Given the description of an element on the screen output the (x, y) to click on. 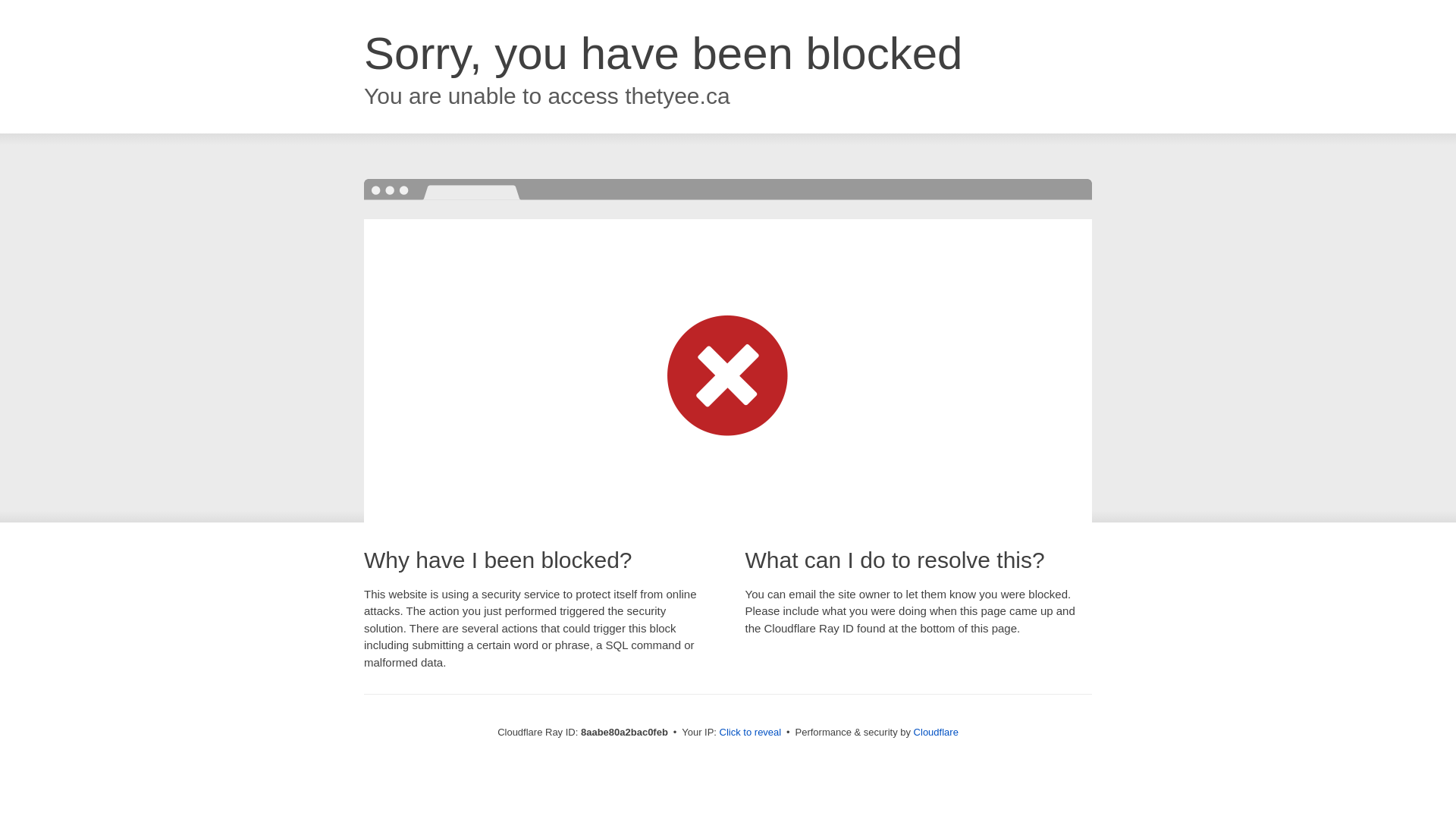
Click to reveal (750, 732)
Cloudflare (936, 731)
